Given the description of an element on the screen output the (x, y) to click on. 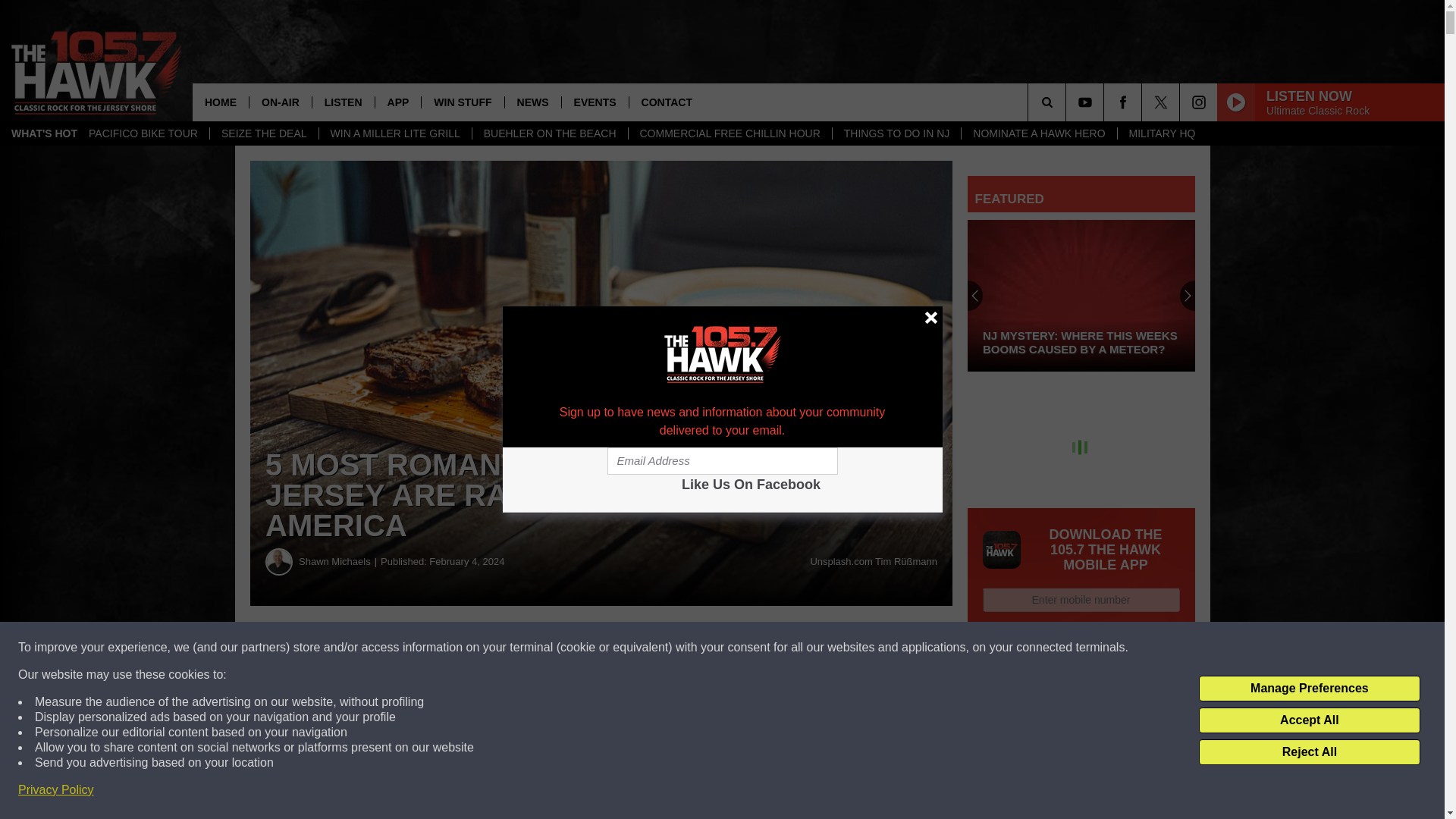
MILITARY HQ (1161, 133)
APP (398, 102)
Share on Facebook (460, 647)
SEIZE THE DEAL (263, 133)
Email Address (722, 461)
BUEHLER ON THE BEACH (549, 133)
SEARCH (1068, 102)
COMMERCIAL FREE CHILLIN HOUR (729, 133)
LISTEN (342, 102)
Reject All (1309, 751)
WIN STUFF (461, 102)
Accept All (1309, 720)
THINGS TO DO IN NJ (895, 133)
Privacy Policy (55, 789)
PACIFICO BIKE TOUR (143, 133)
